Given the description of an element on the screen output the (x, y) to click on. 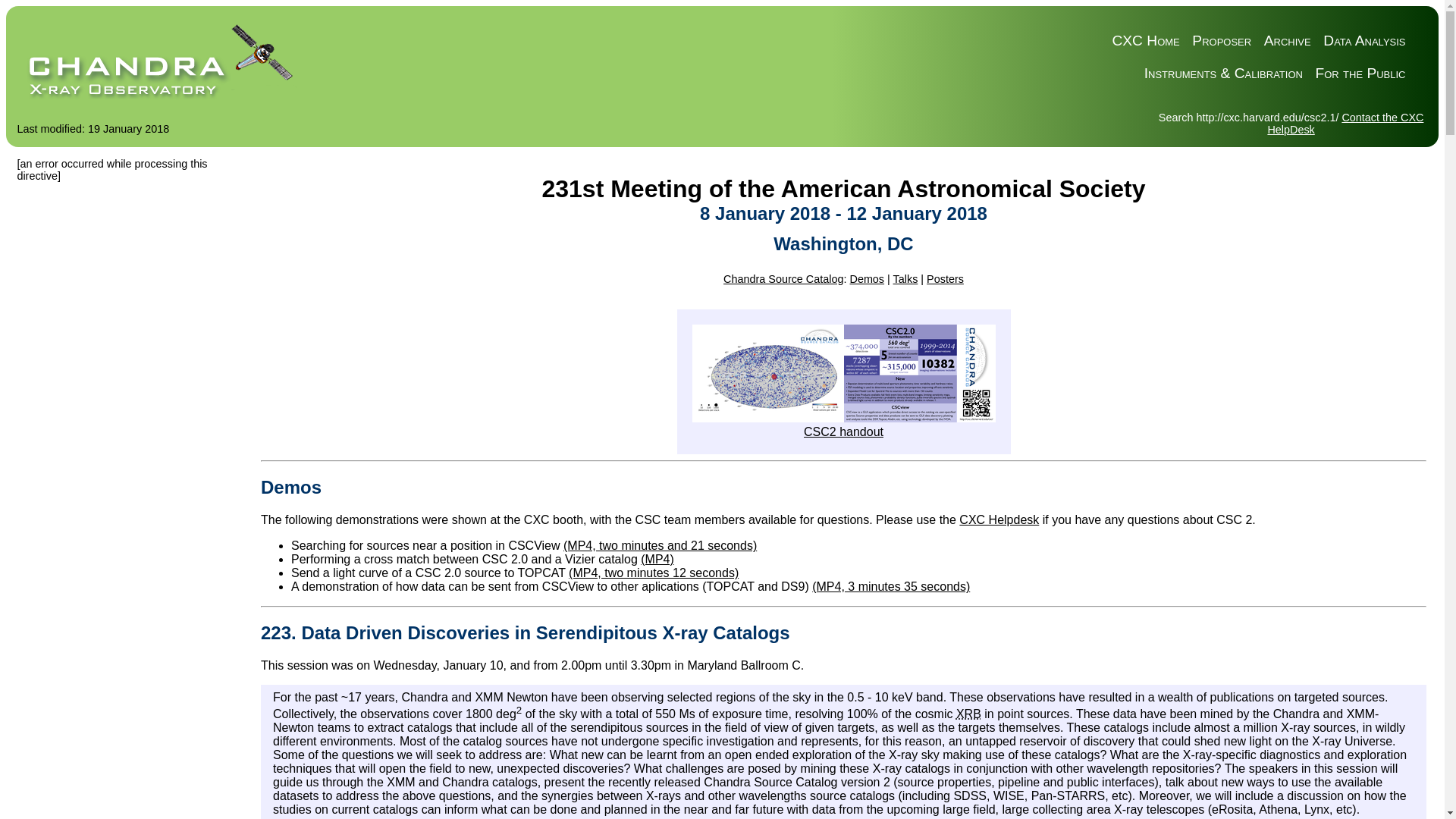
Demos (865, 278)
CXC Home (1145, 40)
Talks (905, 278)
X-Ray Background (968, 713)
Data Analysis (1364, 40)
Chandra Source Catalog (783, 278)
Contact the CXC HelpDesk (1344, 123)
For the Public (1361, 73)
CSC2 handout (843, 431)
CXC Helpdesk (999, 519)
